Given the description of an element on the screen output the (x, y) to click on. 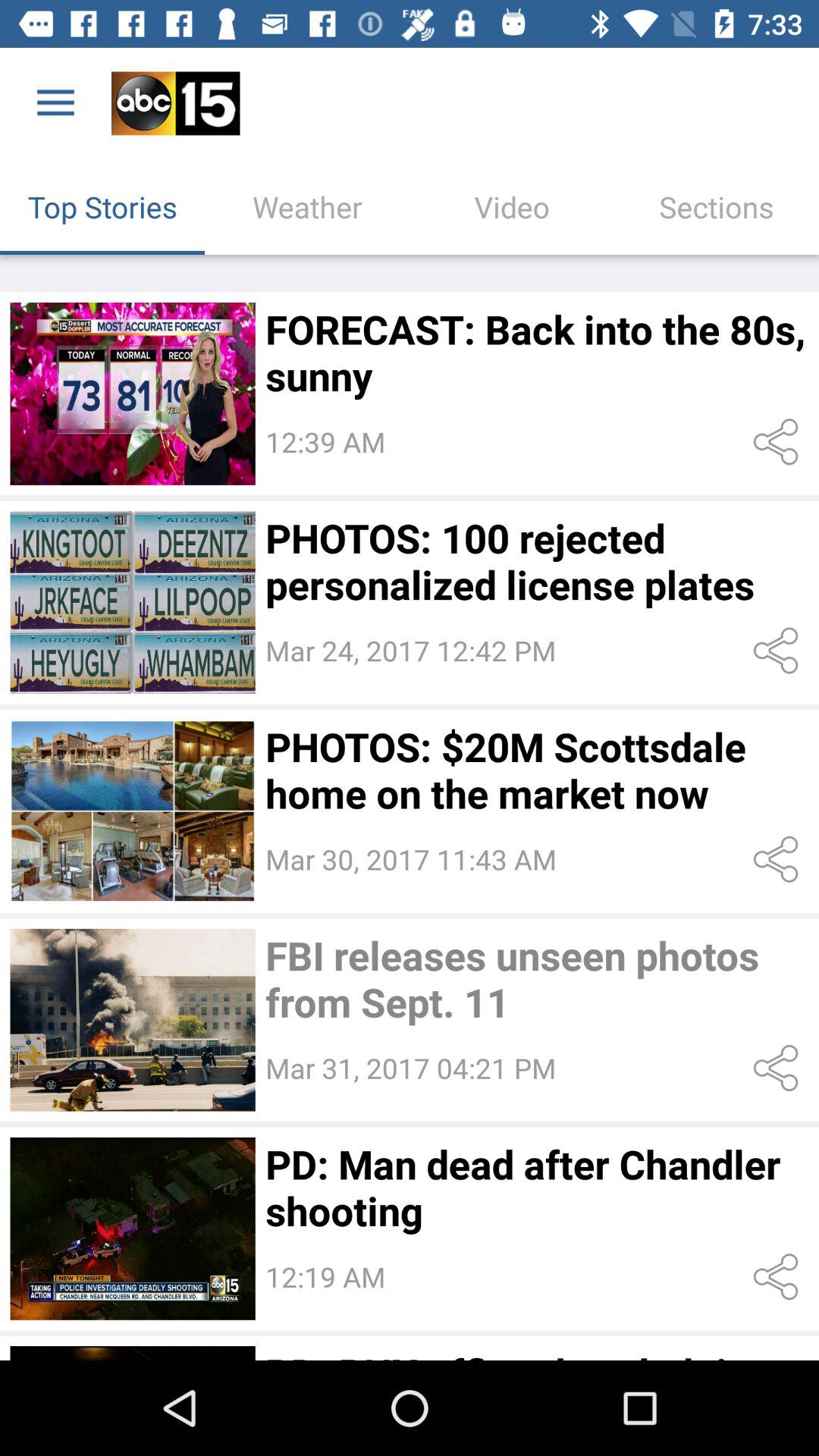
open the selected article (132, 602)
